Given the description of an element on the screen output the (x, y) to click on. 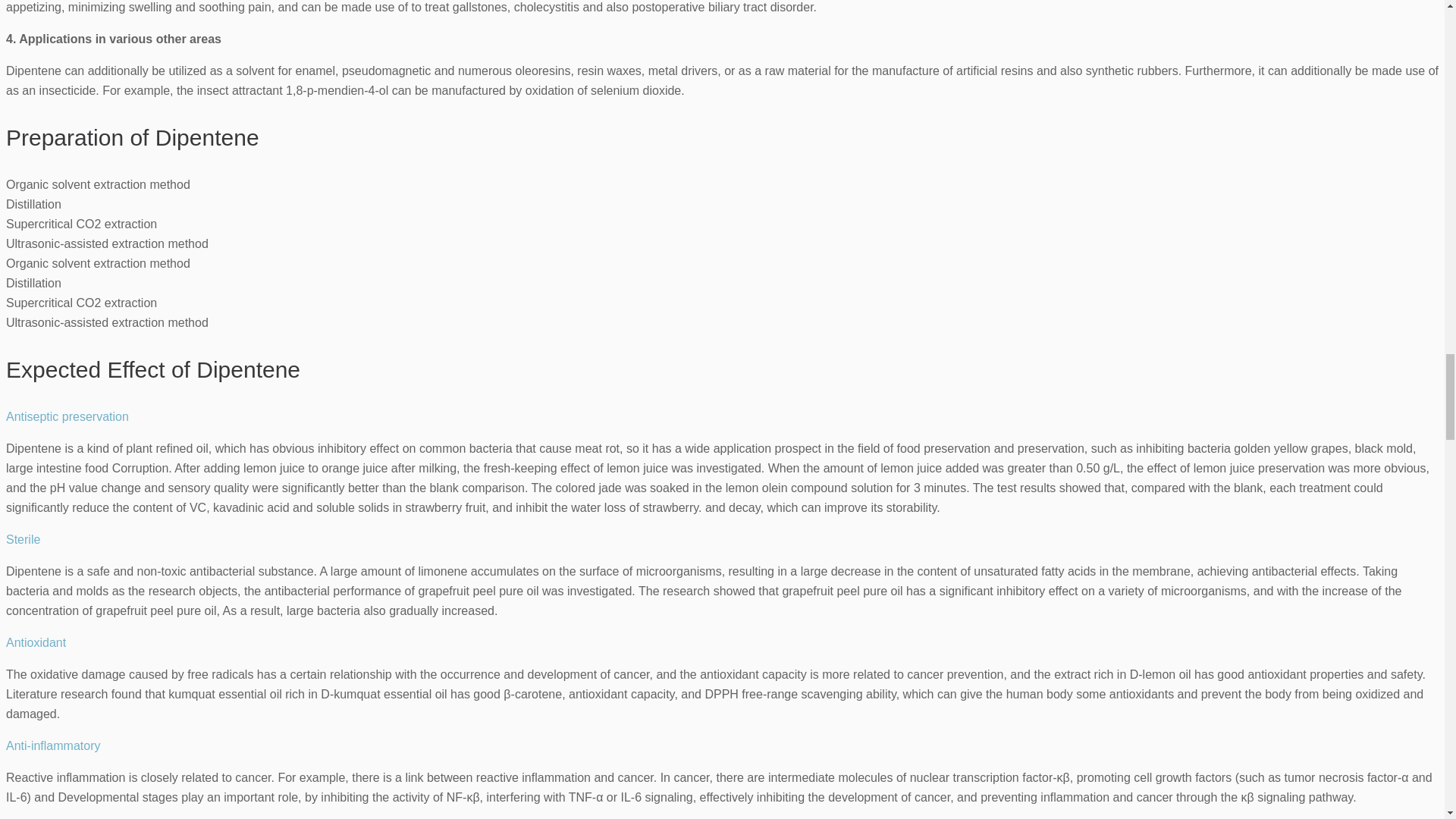
Antiseptic preservation (67, 416)
